Given the description of an element on the screen output the (x, y) to click on. 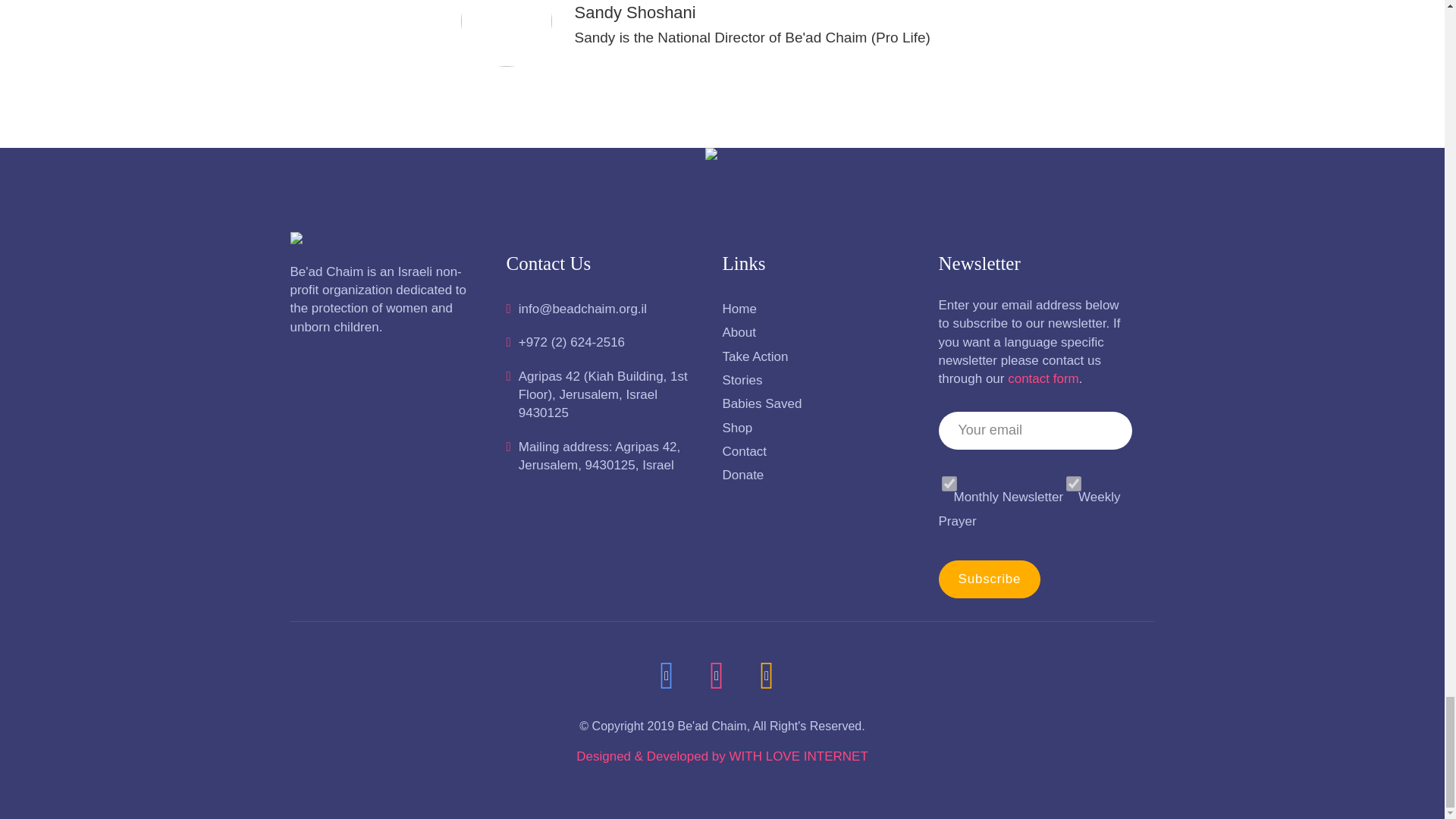
Take Action (818, 357)
Donate (818, 475)
Stories (818, 380)
Subscribe (990, 579)
Contact (818, 452)
Shop (818, 428)
About (818, 332)
Home (818, 309)
contact form (1042, 378)
Babies Saved (818, 403)
